Given the description of an element on the screen output the (x, y) to click on. 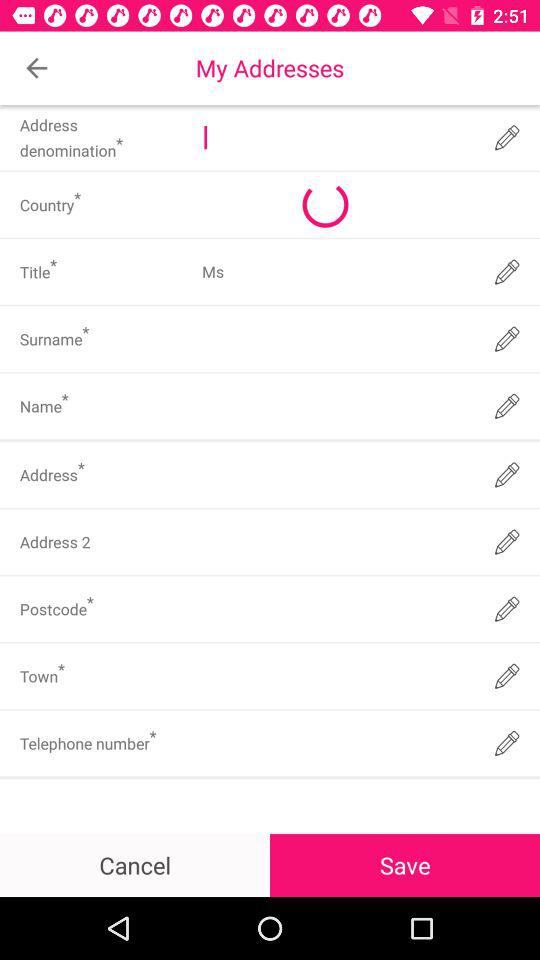
choose icon to the left of save (135, 864)
